Given the description of an element on the screen output the (x, y) to click on. 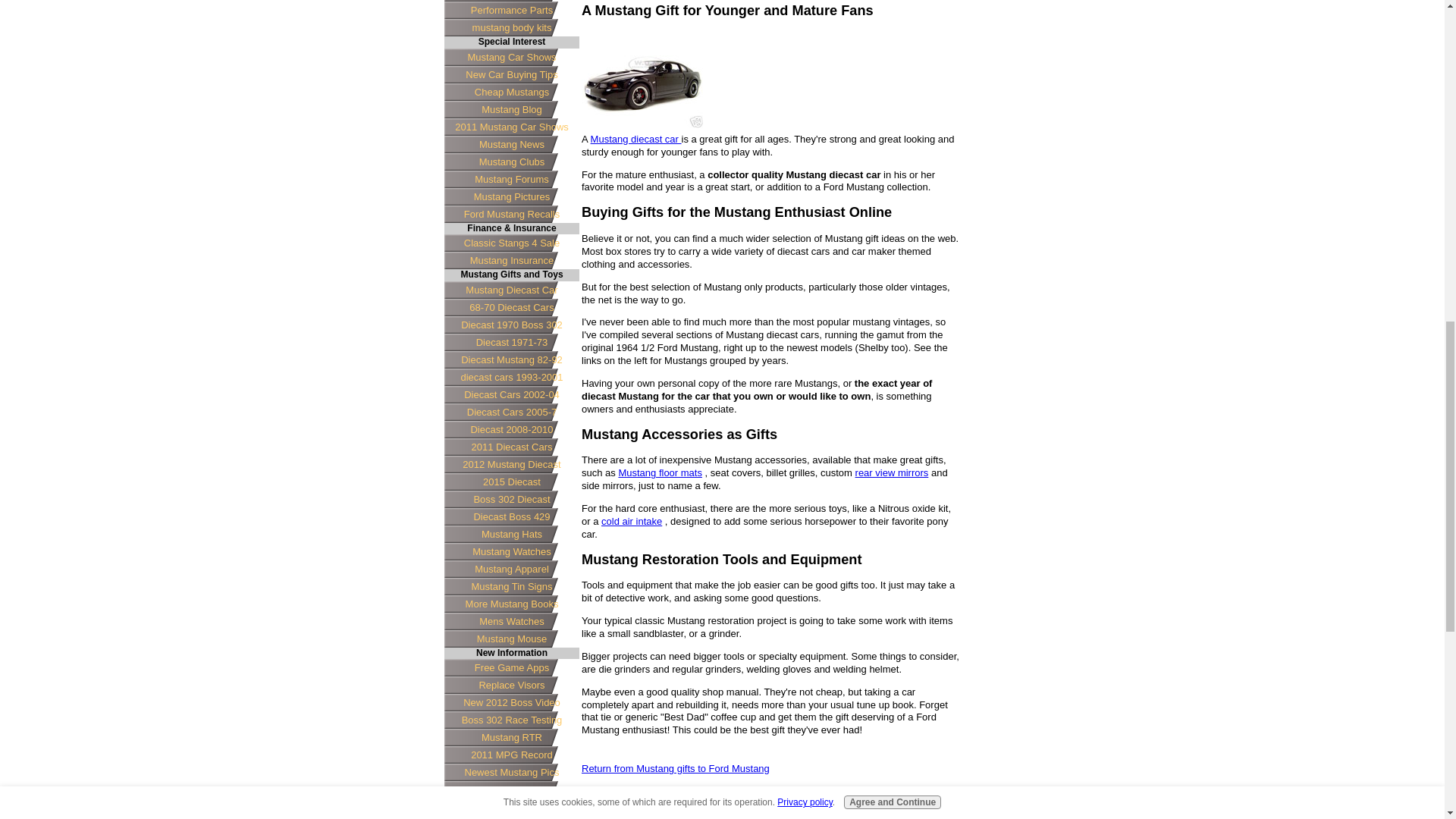
New Car Buying Tips (511, 74)
mustang diecast car (641, 81)
Mustang Car Shows (511, 57)
Performance Parts (511, 9)
mustang body kits (511, 27)
Mustang Parts (511, 0)
